Given the description of an element on the screen output the (x, y) to click on. 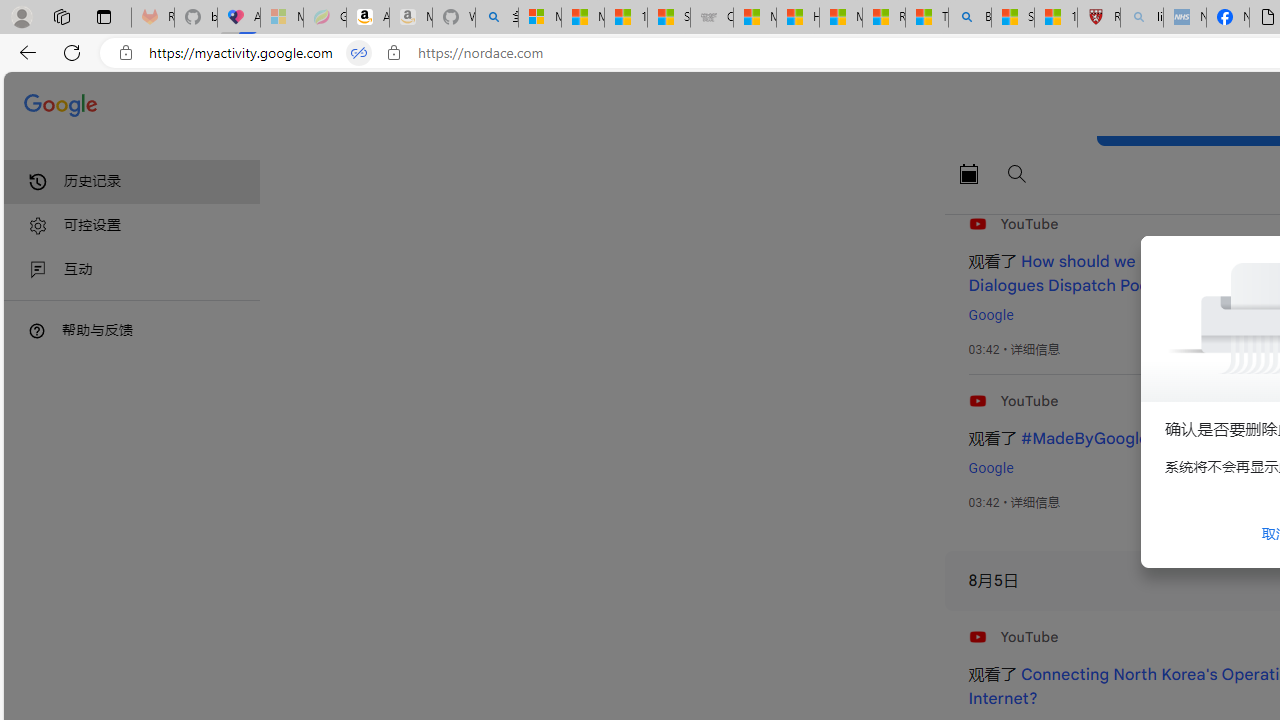
Tabs in split screen (358, 53)
Class: i2GIId (38, 269)
